Given the description of an element on the screen output the (x, y) to click on. 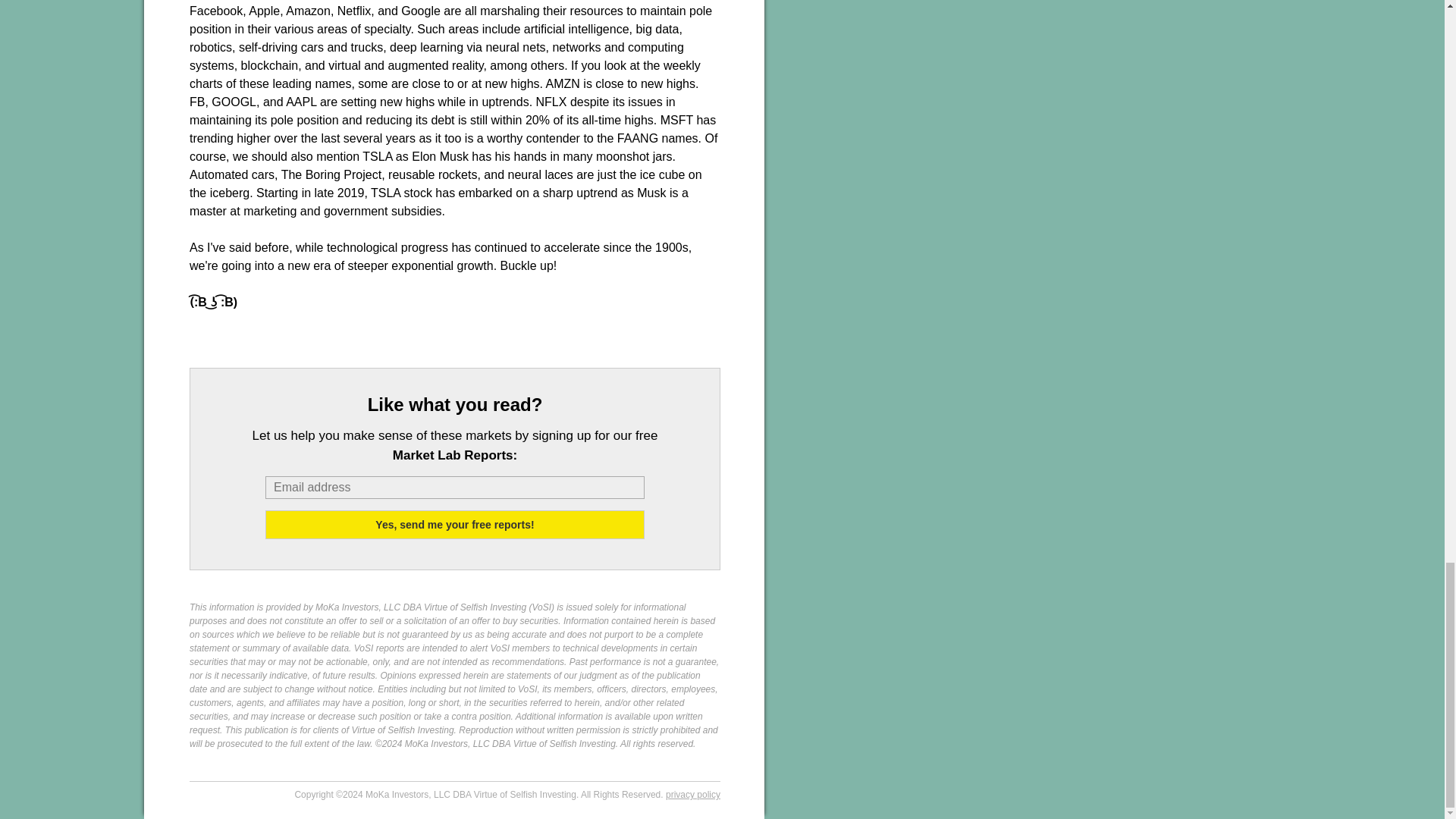
Yes, send me your free reports! (454, 524)
Yes, send me your free reports! (454, 524)
privacy policy (692, 794)
